Given the description of an element on the screen output the (x, y) to click on. 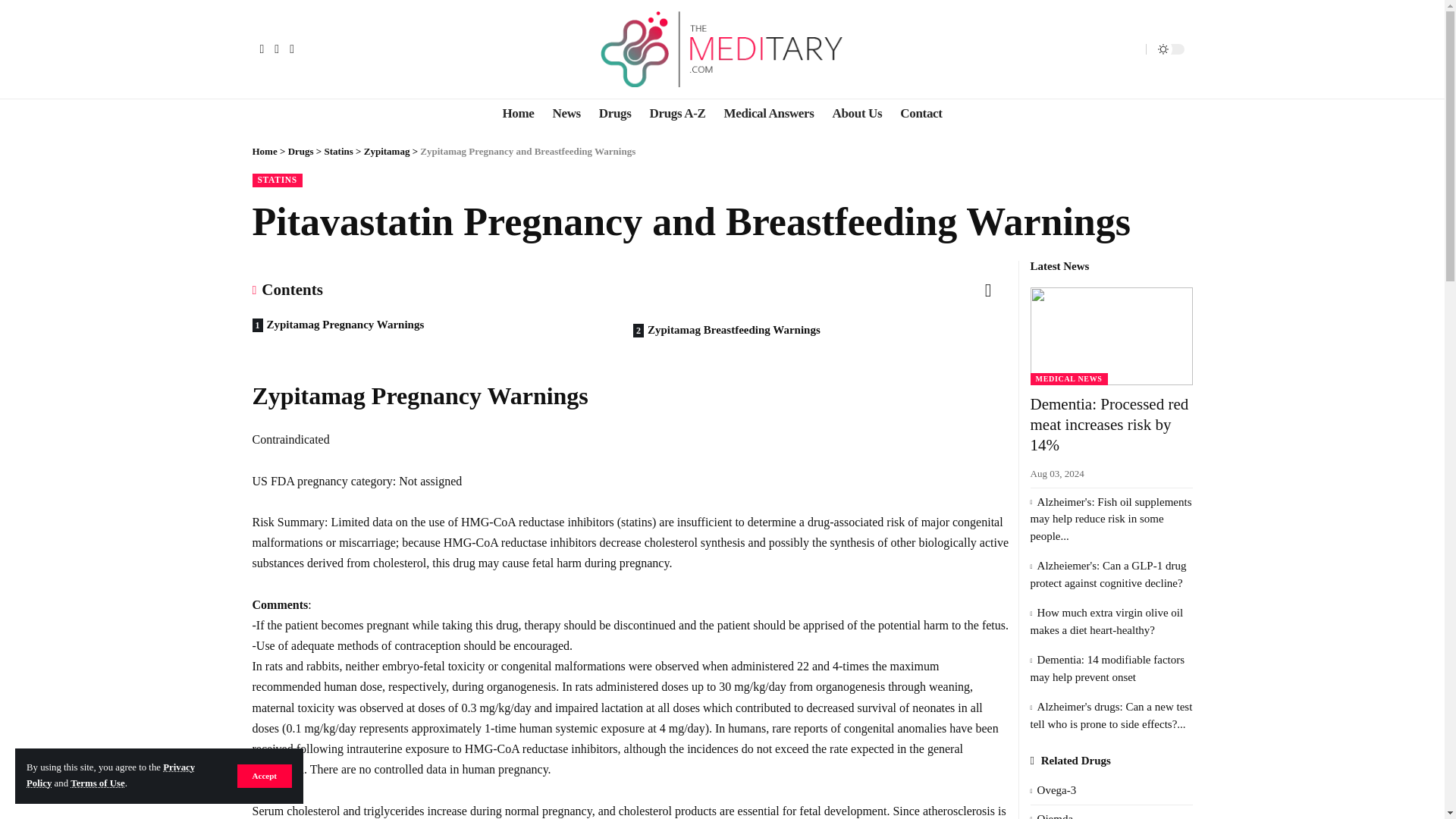
Drugs (301, 151)
Home (518, 113)
Contact (920, 113)
Drugs (614, 113)
Drugs A-Z (677, 113)
Medical Answers (768, 113)
Privacy Policy (110, 774)
News (566, 113)
Contact Us (920, 113)
About Us (857, 113)
